Given the description of an element on the screen output the (x, y) to click on. 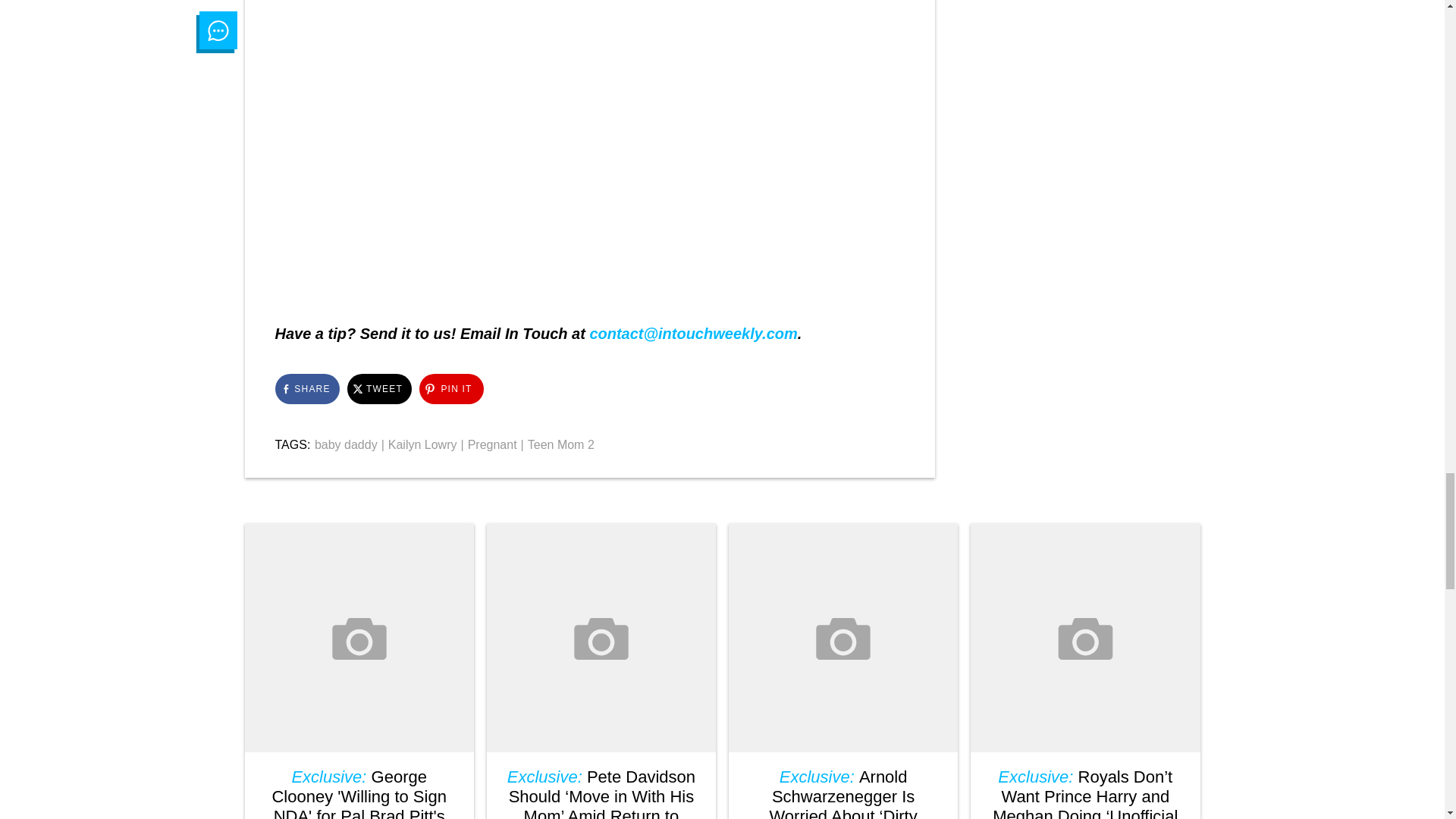
Click to share on Twitter (379, 388)
Click to share on Facebook (307, 388)
Click to share on Pinterest (451, 388)
